Given the description of an element on the screen output the (x, y) to click on. 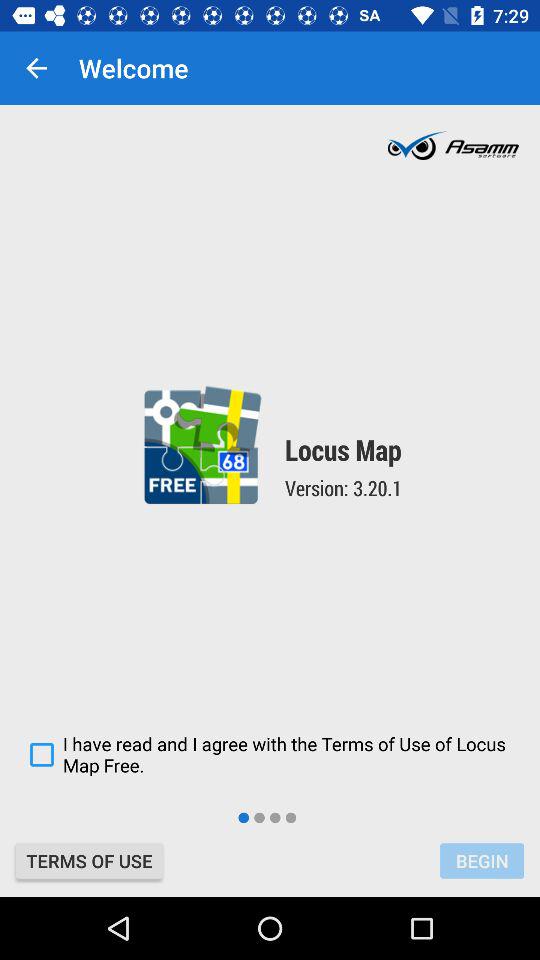
jump until the begin item (482, 860)
